Given the description of an element on the screen output the (x, y) to click on. 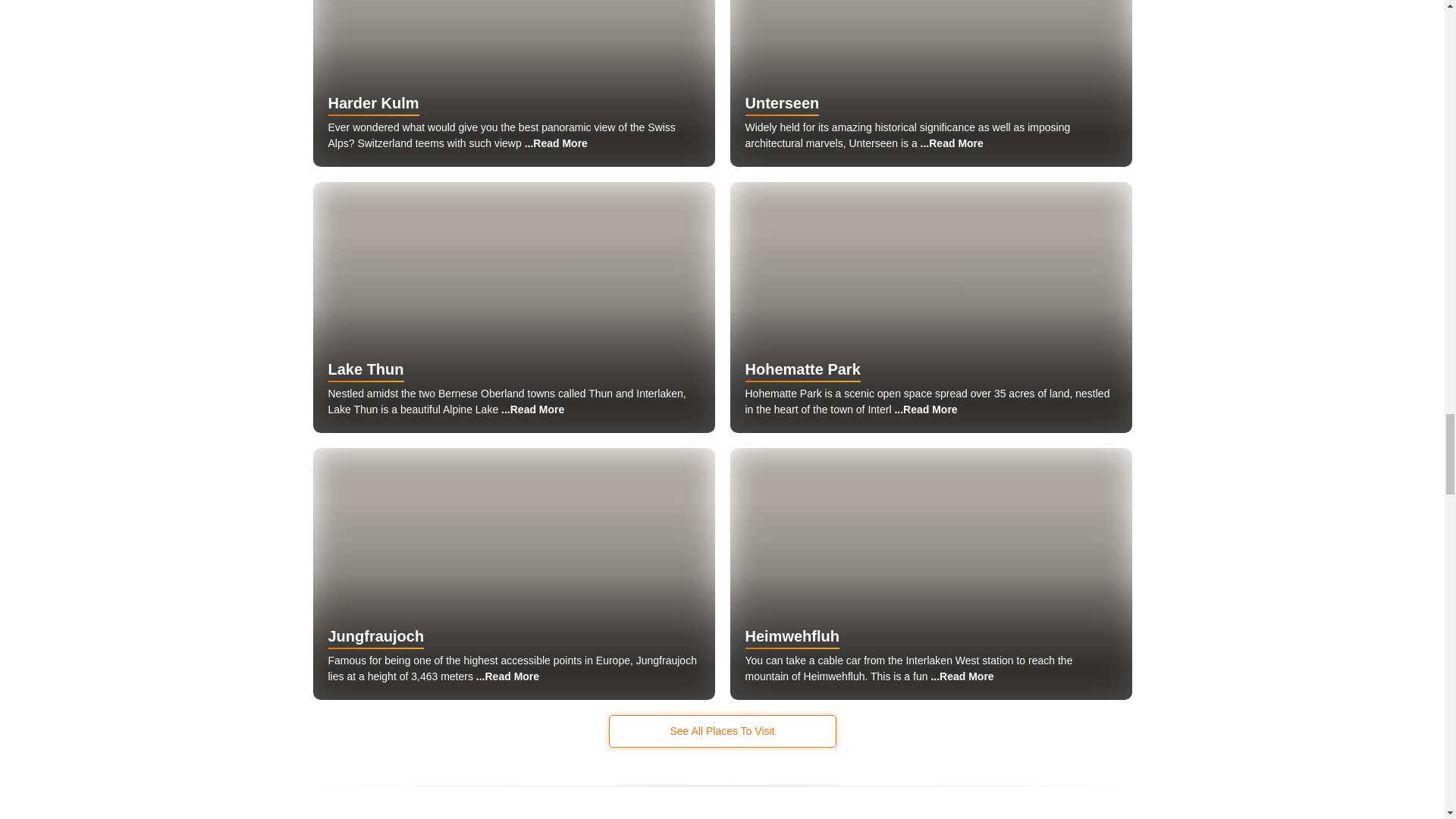
See All Places To Visit (721, 730)
